Given the description of an element on the screen output the (x, y) to click on. 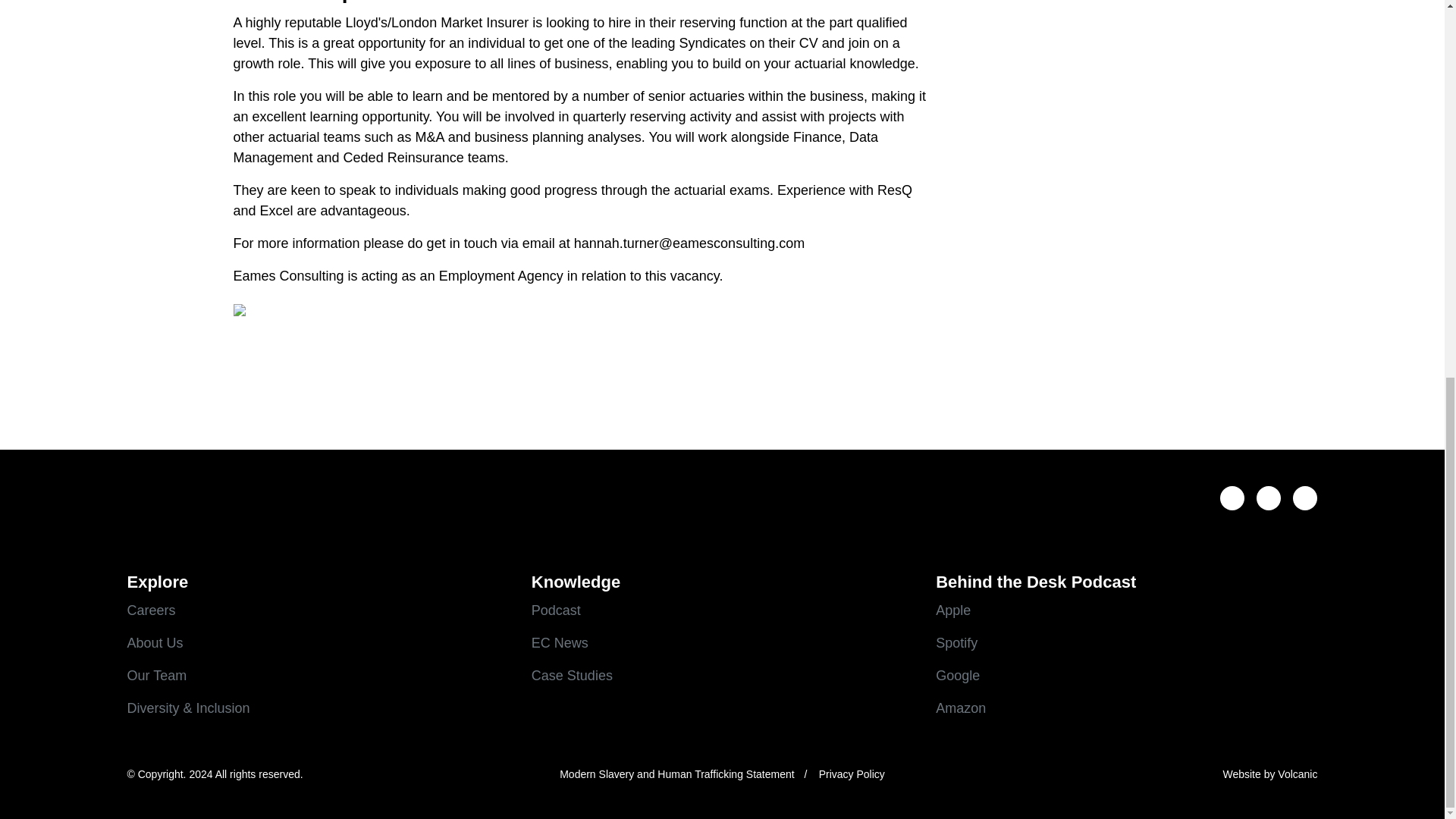
Amazon (1126, 708)
Podcast (721, 610)
Spotify (1126, 643)
Google (1126, 675)
Case Studies (721, 675)
Apple (1126, 610)
EC News (721, 643)
Careers (318, 610)
About Us (318, 643)
Our Team (318, 675)
